Given the description of an element on the screen output the (x, y) to click on. 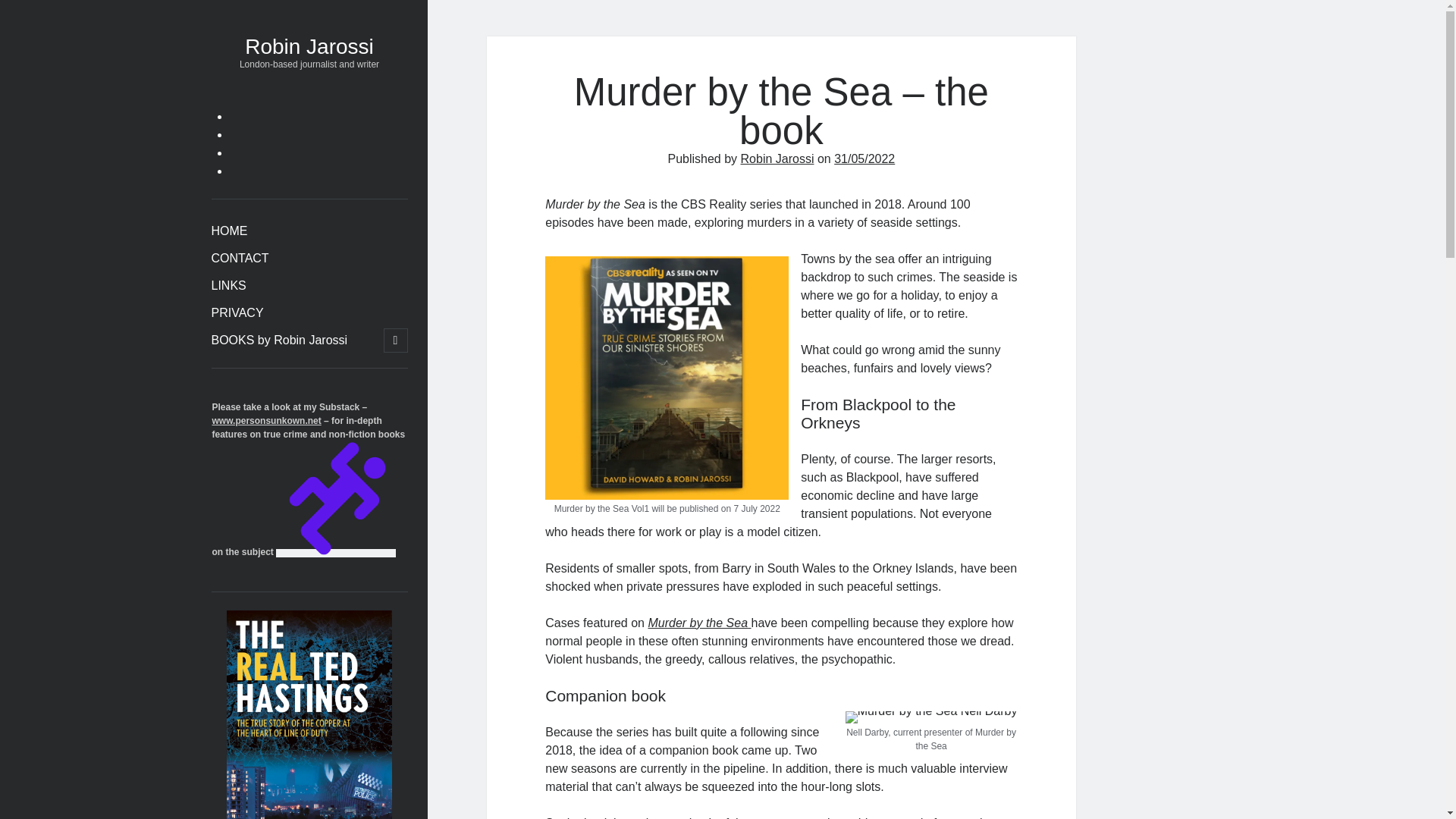
Murder by the Sea (699, 622)
BOOKS by Robin Jarossi (279, 340)
Robin Jarossi (777, 158)
www.personsunkown.net (266, 420)
PRIVACY (237, 312)
Robin Jarossi (309, 46)
CONTACT (239, 258)
LINKS (228, 285)
HOME (229, 230)
